Given the description of an element on the screen output the (x, y) to click on. 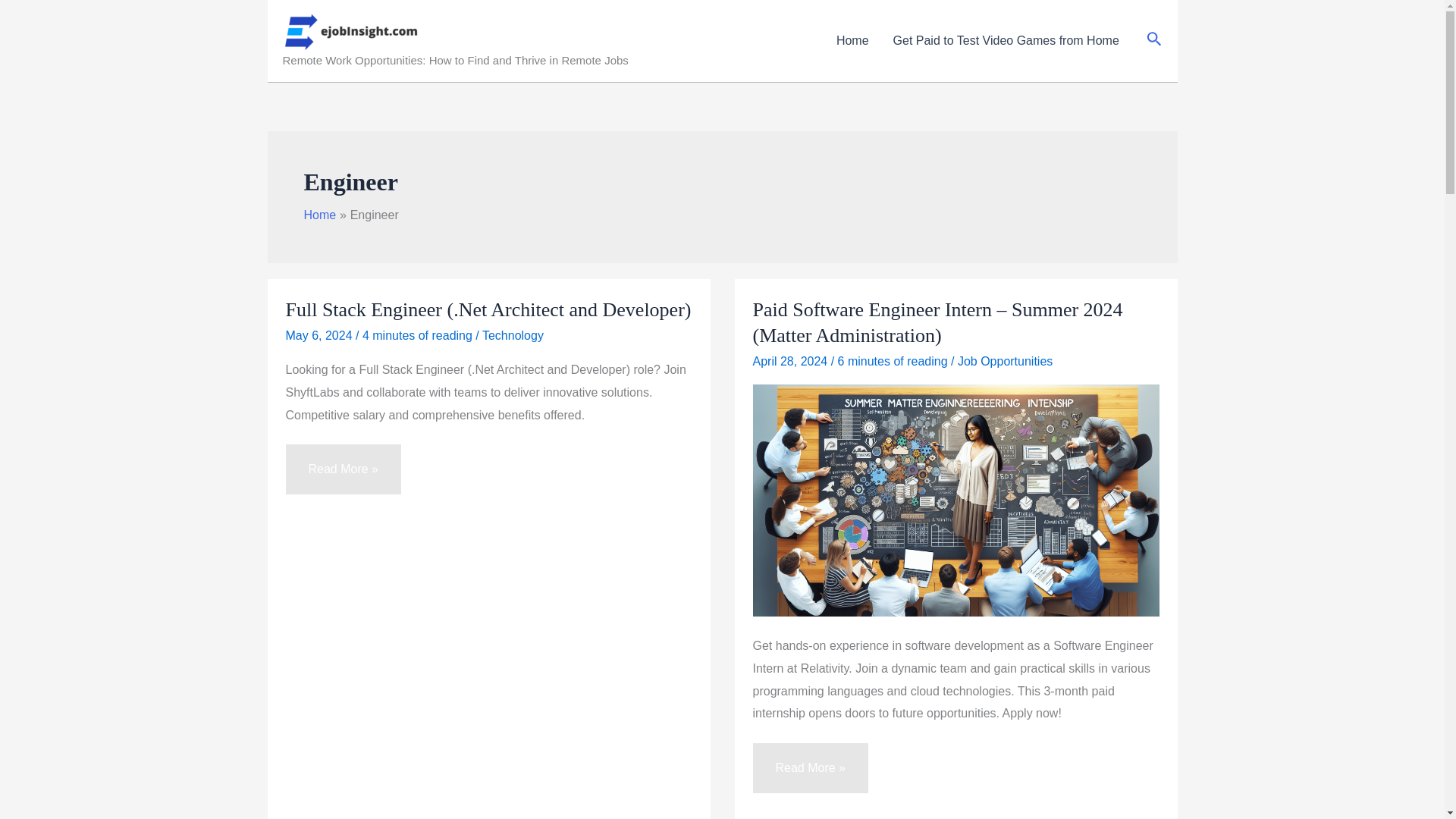
Get Paid to Test Video Games from Home (1005, 40)
Job Opportunities (1005, 360)
Search (1154, 40)
Technology (512, 335)
Home (852, 40)
Home (319, 214)
